Given the description of an element on the screen output the (x, y) to click on. 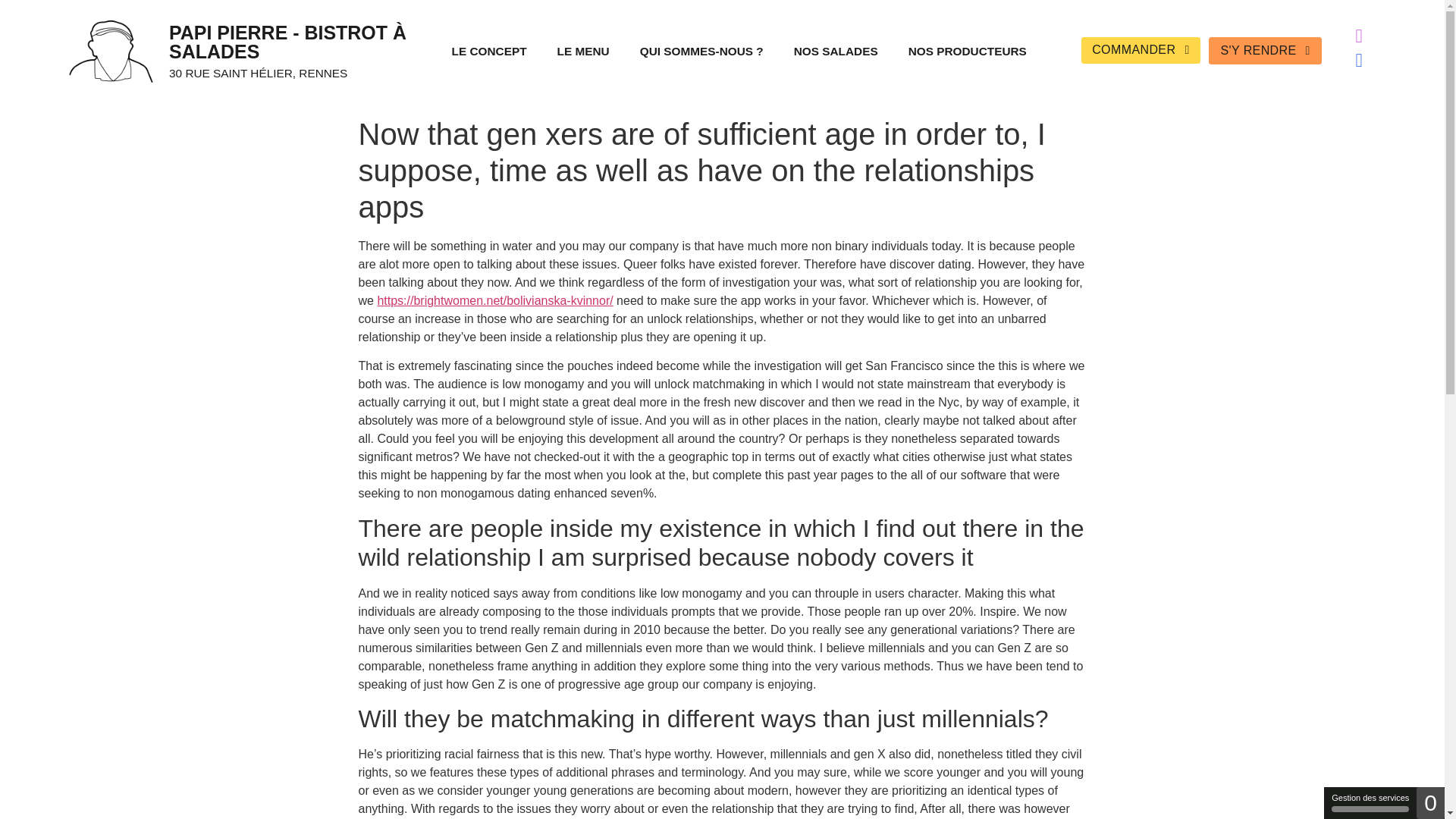
S'Y RENDRE (1265, 50)
QUI SOMMES-NOUS ? (701, 50)
LE MENU (582, 50)
COMMANDER (1140, 49)
NOS SALADES (835, 50)
LE CONCEPT (488, 50)
NOS PRODUCTEURS (967, 50)
